Given the description of an element on the screen output the (x, y) to click on. 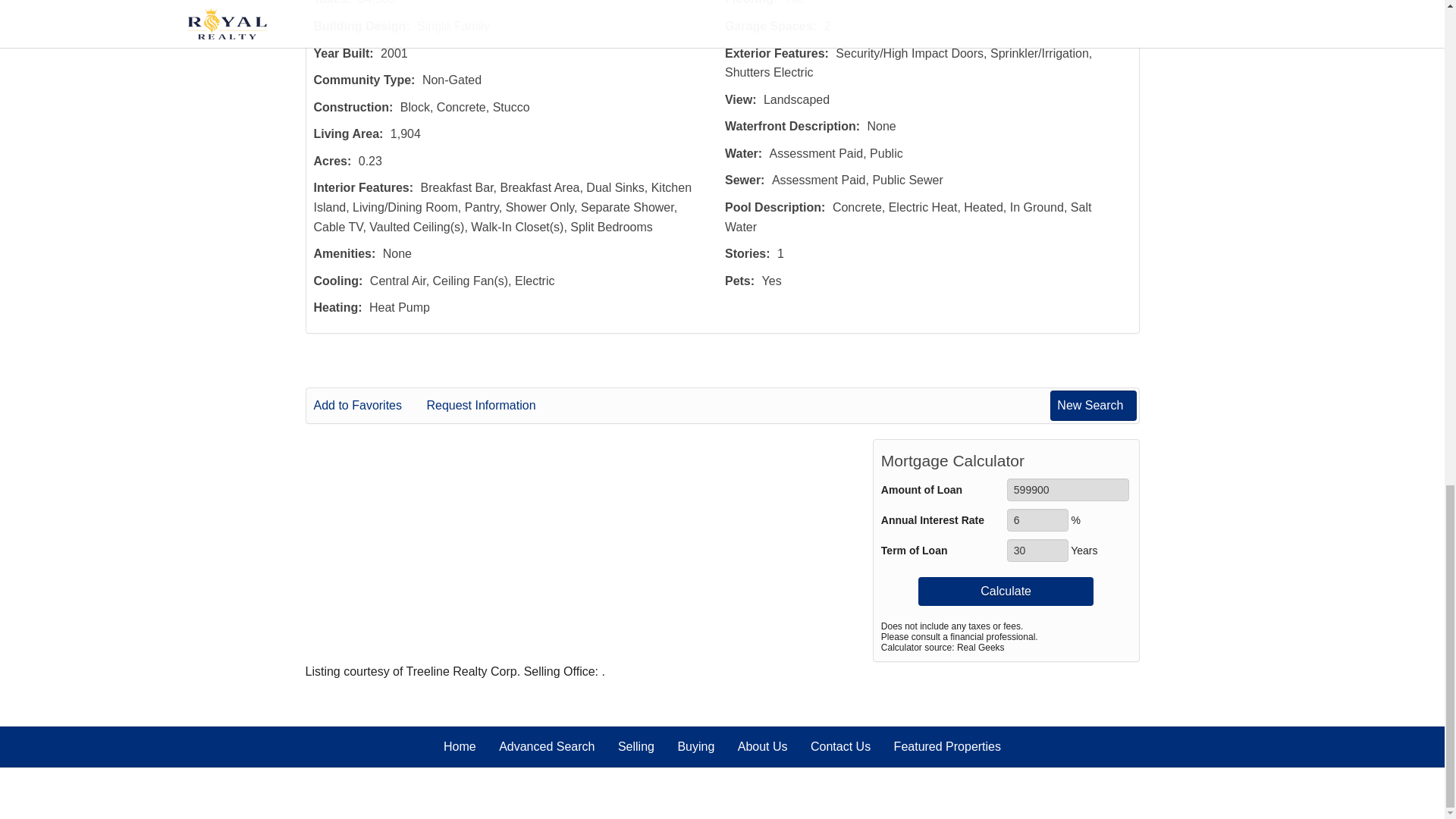
6 (1037, 519)
30 (1037, 549)
599900 (1068, 489)
